Given the description of an element on the screen output the (x, y) to click on. 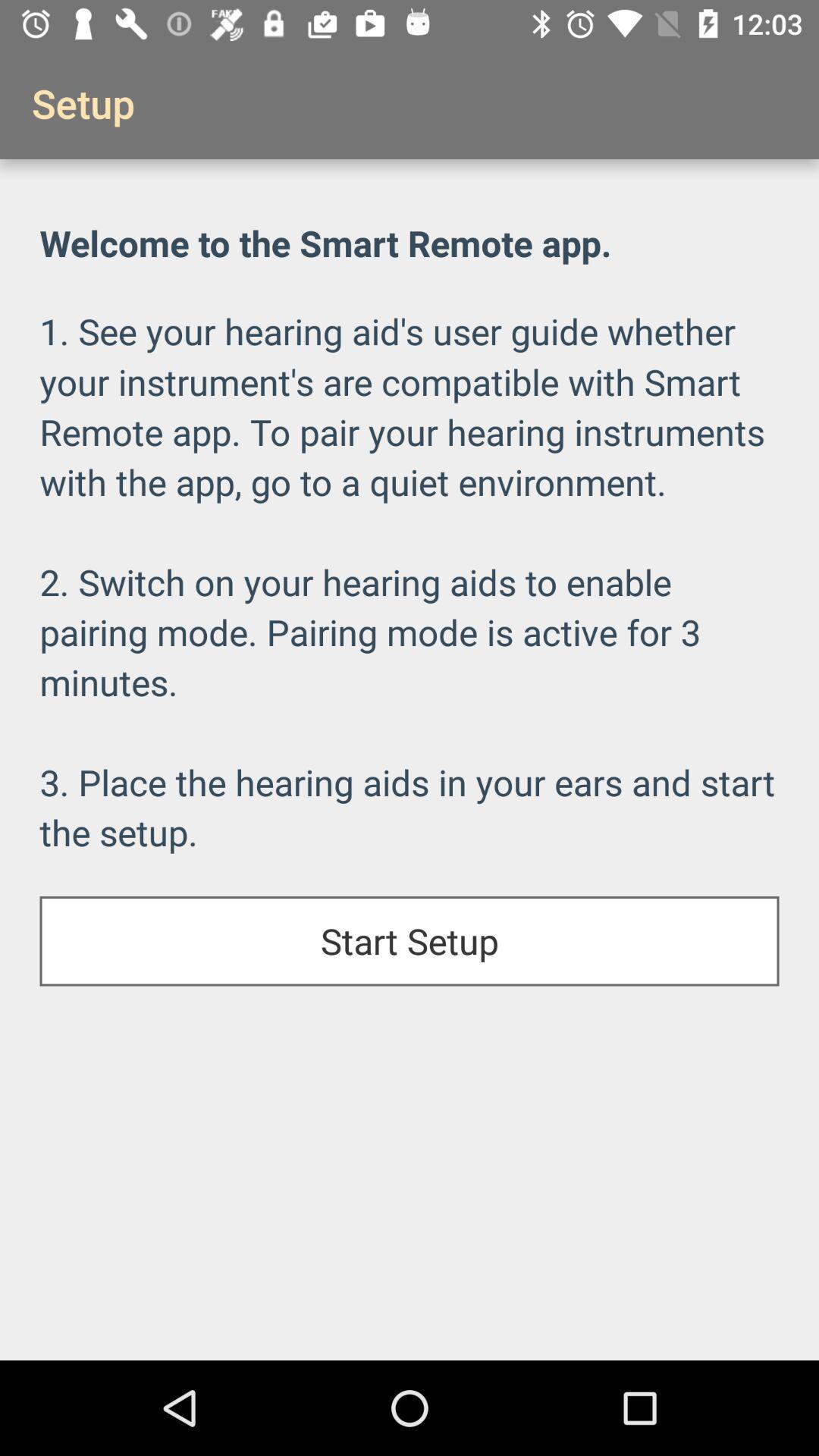
click the item below 1 see your icon (409, 941)
